Given the description of an element on the screen output the (x, y) to click on. 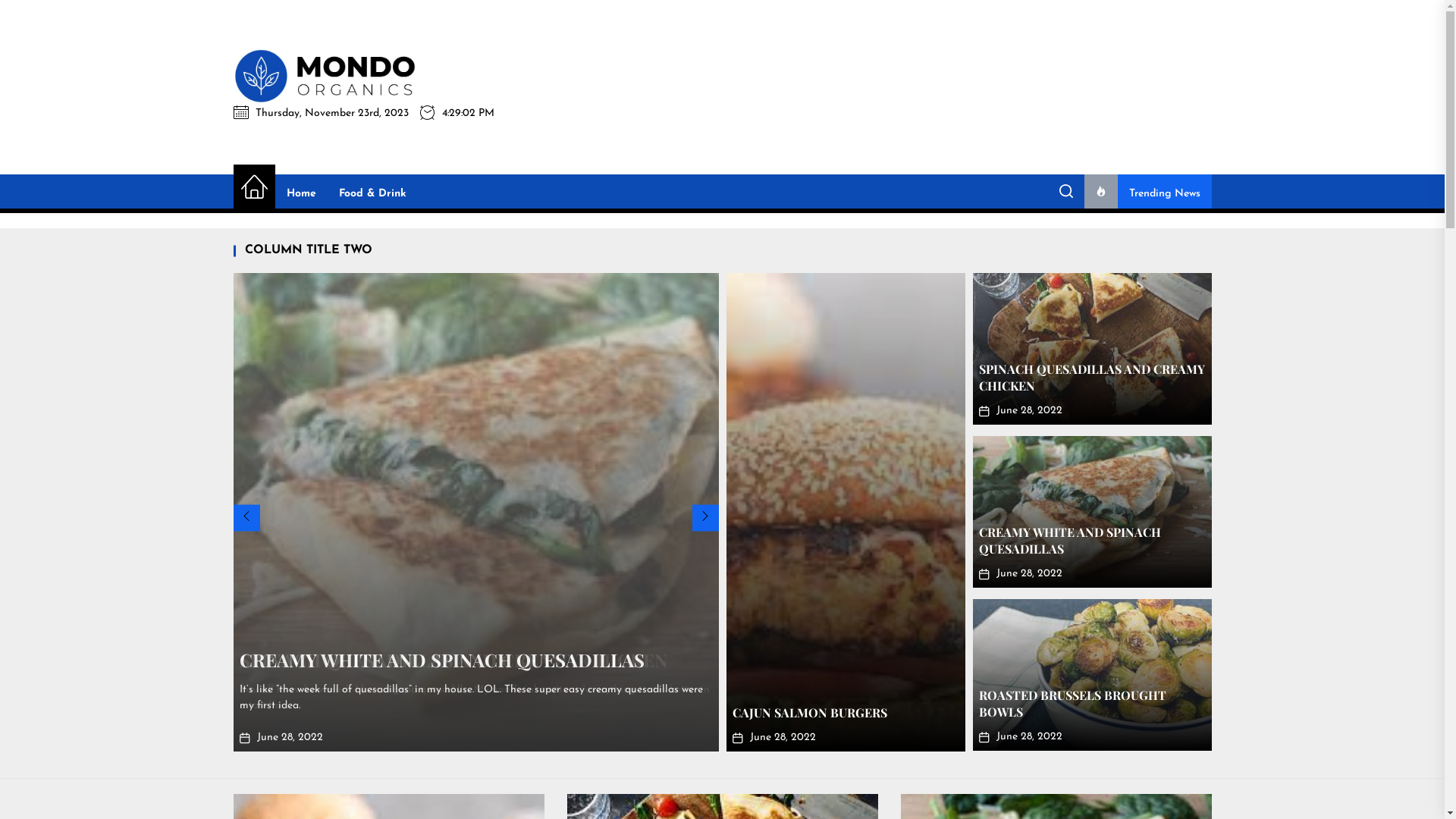
Food & Drink Element type: text (372, 193)
CAJUN SALMON BURGERS Element type: text (809, 712)
June 28, 2022 Element type: text (1029, 573)
June 28, 2022 Element type: text (1029, 410)
Home Element type: text (300, 193)
SPINACH QUESADILLAS AND CREAMY CHICKEN Element type: text (453, 659)
June 28, 2022 Element type: text (1029, 736)
Home Element type: hover (254, 187)
Trending News Element type: text (1147, 193)
CREAMY WHITE AND SPINACH QUESADILLAS Element type: text (1069, 540)
June 28, 2022 Element type: text (289, 737)
SPINACH QUESADILLAS AND CREAMY CHICKEN Element type: text (1091, 376)
June 28, 2022 Element type: text (782, 737)
ROASTED BRUSSELS BROUGHT BOWLS Element type: text (1071, 703)
